Given the description of an element on the screen output the (x, y) to click on. 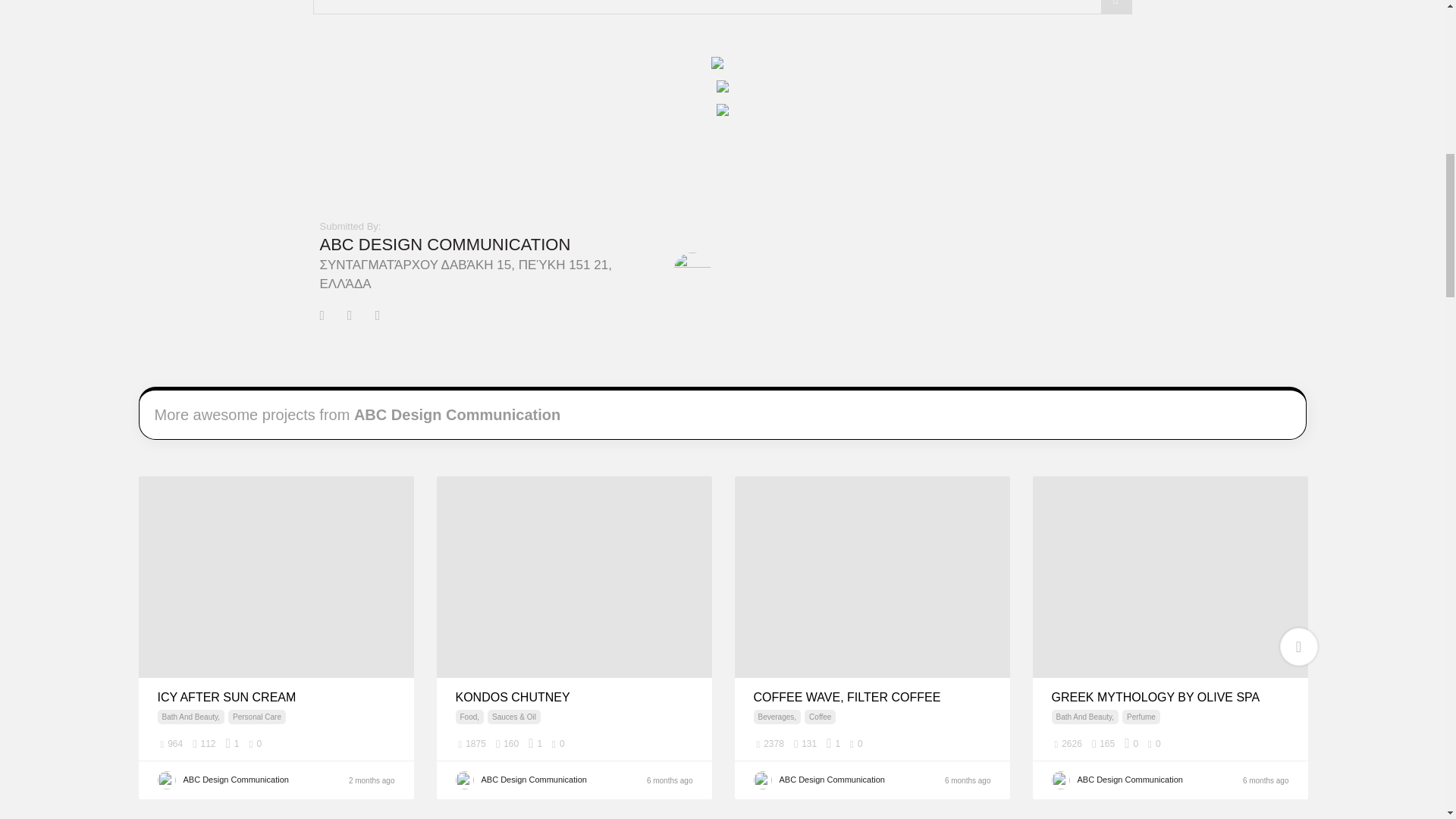
ABC Design Communication (691, 269)
Greece (981, 743)
Greece (684, 743)
Greece (384, 743)
ABC Design Communication (849, 780)
ABC Design Communication (445, 244)
ABC Design Communication (550, 780)
ABC Design Communication (253, 780)
